Given the description of an element on the screen output the (x, y) to click on. 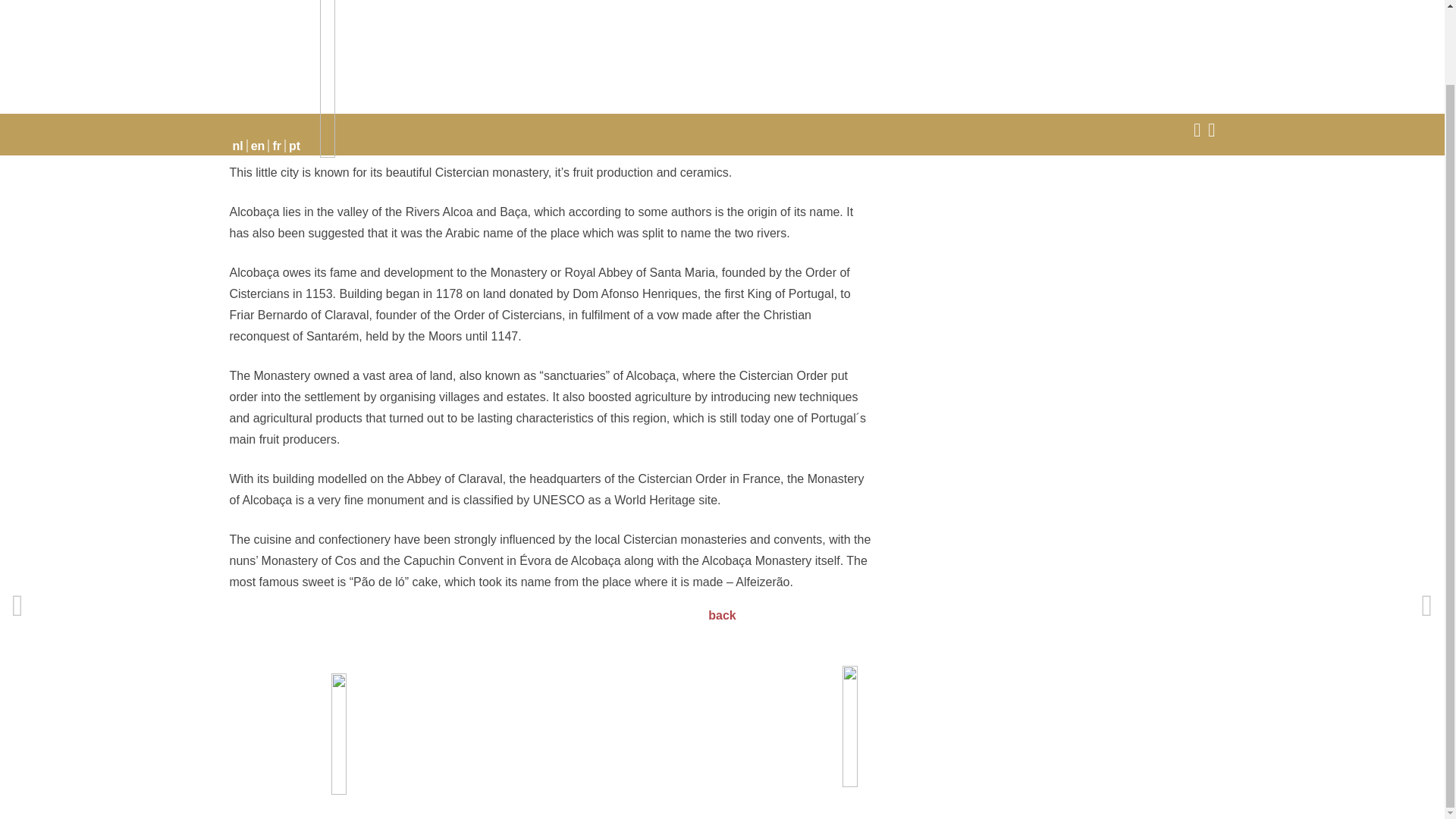
nl (237, 62)
back (721, 615)
fr (277, 62)
en (258, 62)
pt (293, 62)
